Given the description of an element on the screen output the (x, y) to click on. 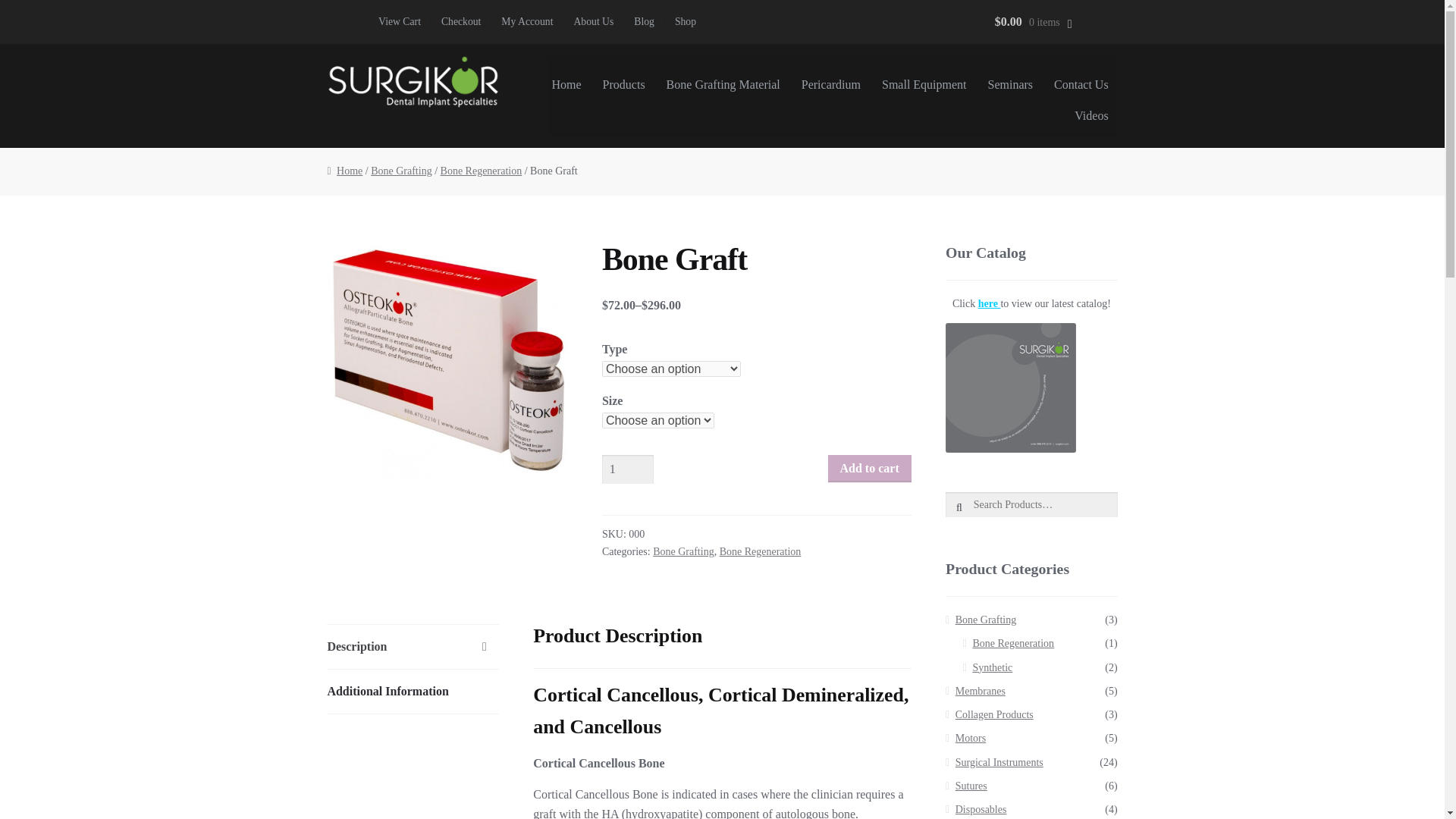
Shop (684, 21)
My Account (527, 21)
View your shopping cart (1019, 21)
Bone Grafting (400, 170)
Small Equipment (923, 90)
Videos (1090, 121)
About Us (593, 21)
Seminars (1010, 90)
Contact Us (1081, 90)
Products (623, 90)
